Given the description of an element on the screen output the (x, y) to click on. 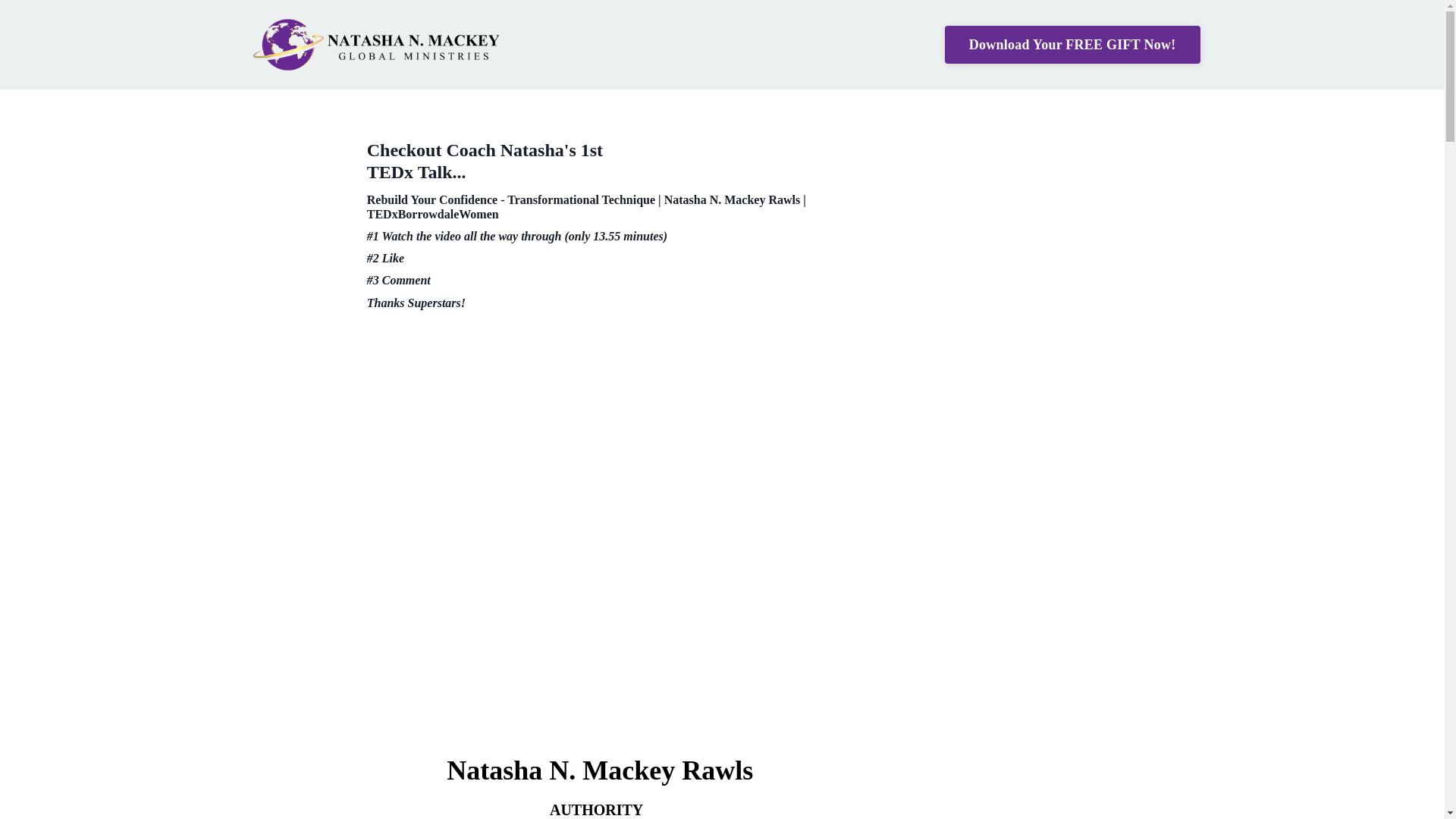
Download Your FREE GIFT Now! (1071, 44)
